Given the description of an element on the screen output the (x, y) to click on. 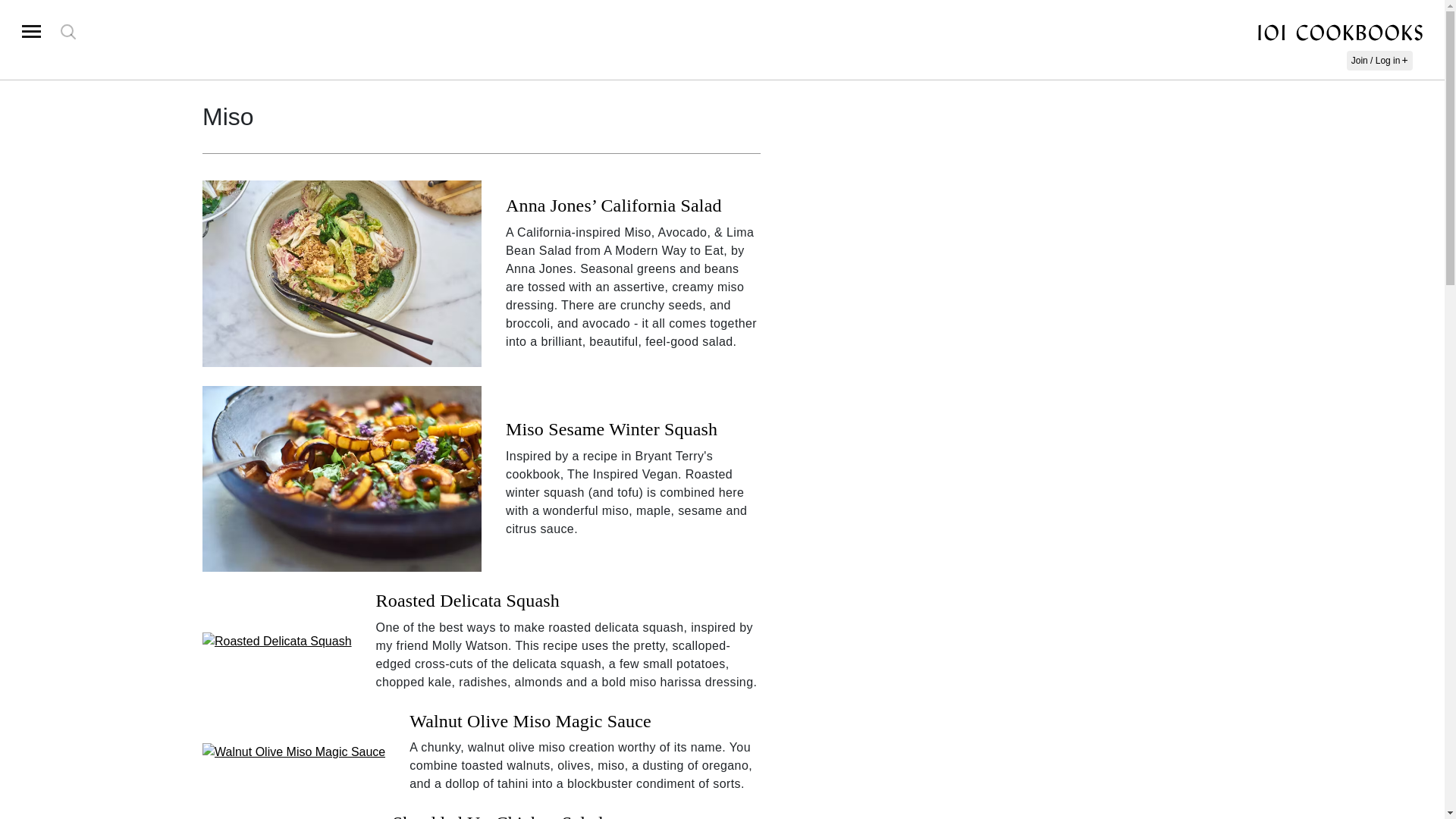
101 Cookbooks (1340, 30)
101 Cookbooks logo (1340, 32)
101 Cookbooks logo (1340, 30)
